Given the description of an element on the screen output the (x, y) to click on. 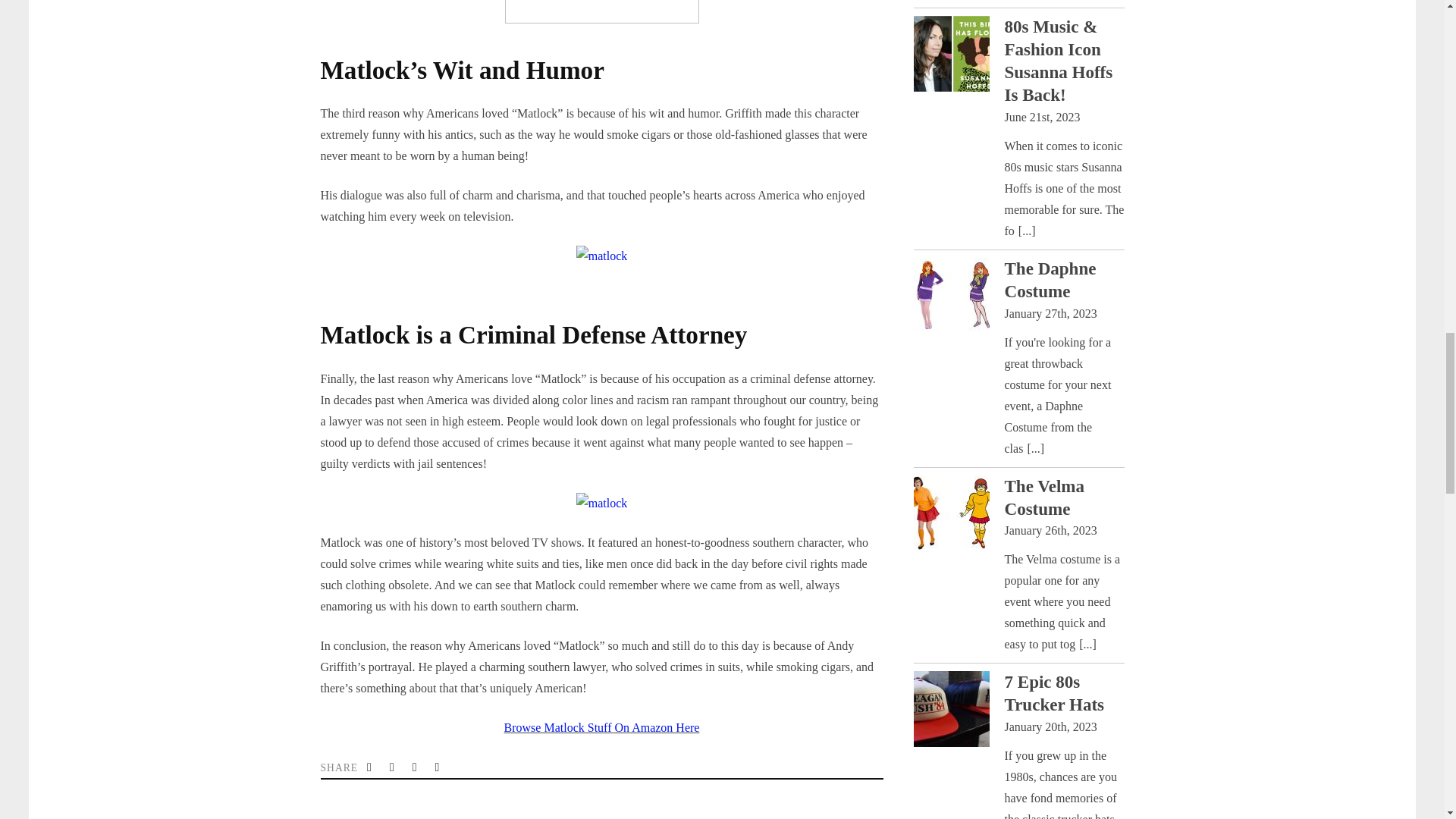
Tweet This! (370, 767)
Pin this! (438, 767)
Share on Facebook (393, 767)
Browse Matlock Stuff On Amazon Here (601, 727)
Share on LinkedIn (416, 767)
Pin this! (438, 767)
Share on Facebook (393, 767)
Share on LinkedIn (416, 767)
Tweet This! (370, 767)
